Given the description of an element on the screen output the (x, y) to click on. 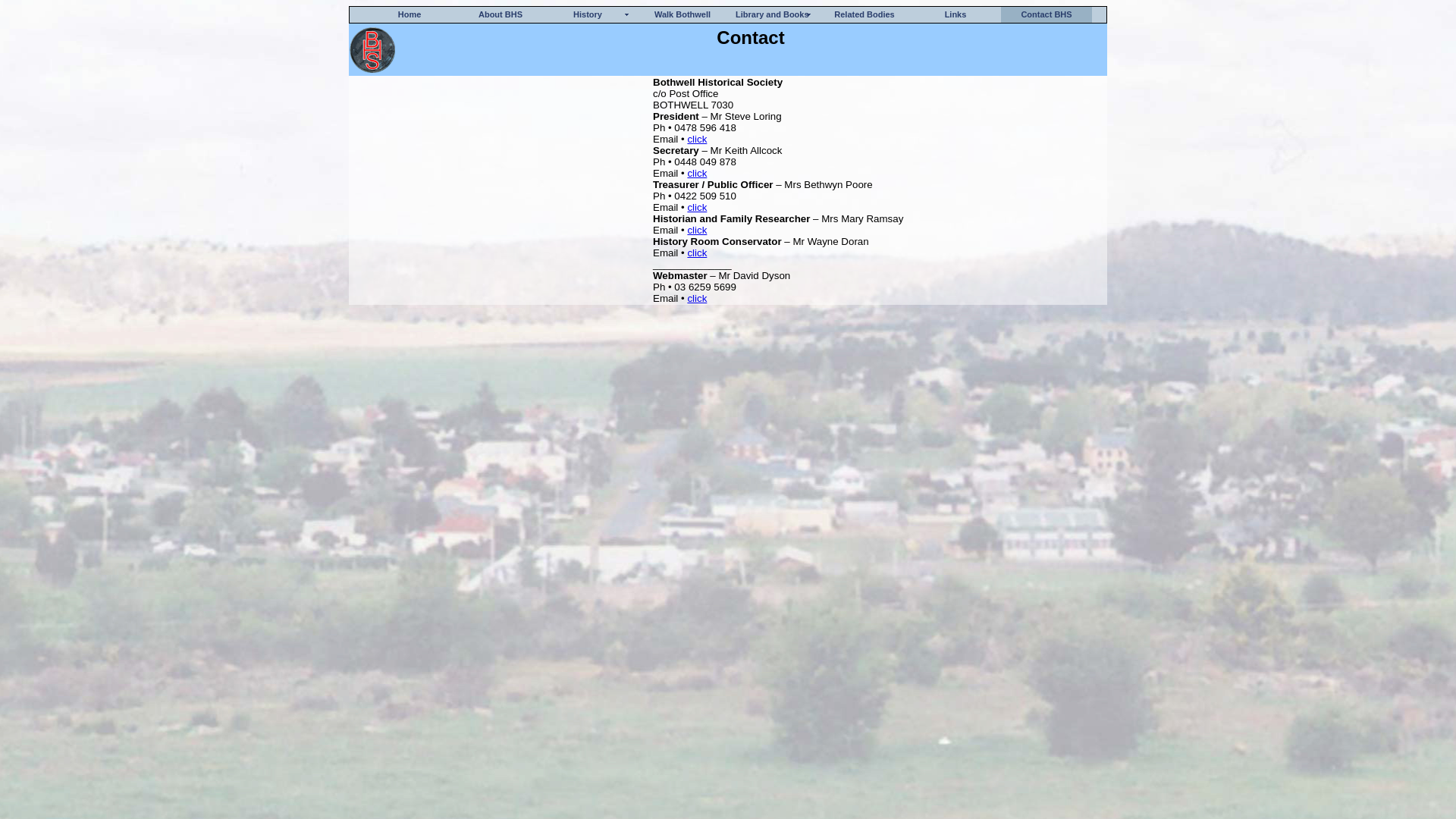
click Element type: text (696, 138)
Related Bodies Element type: text (864, 14)
click Element type: text (696, 172)
Contact BHS Element type: text (1046, 14)
click Element type: text (696, 207)
Walk Bothwell Element type: text (682, 14)
History Element type: text (591, 14)
Library and Books Element type: text (773, 14)
click Element type: text (696, 298)
click Element type: text (696, 252)
click Element type: text (696, 229)
About BHS Element type: text (500, 14)
Home Element type: text (409, 14)
Links Element type: text (955, 14)
